Given the description of an element on the screen output the (x, y) to click on. 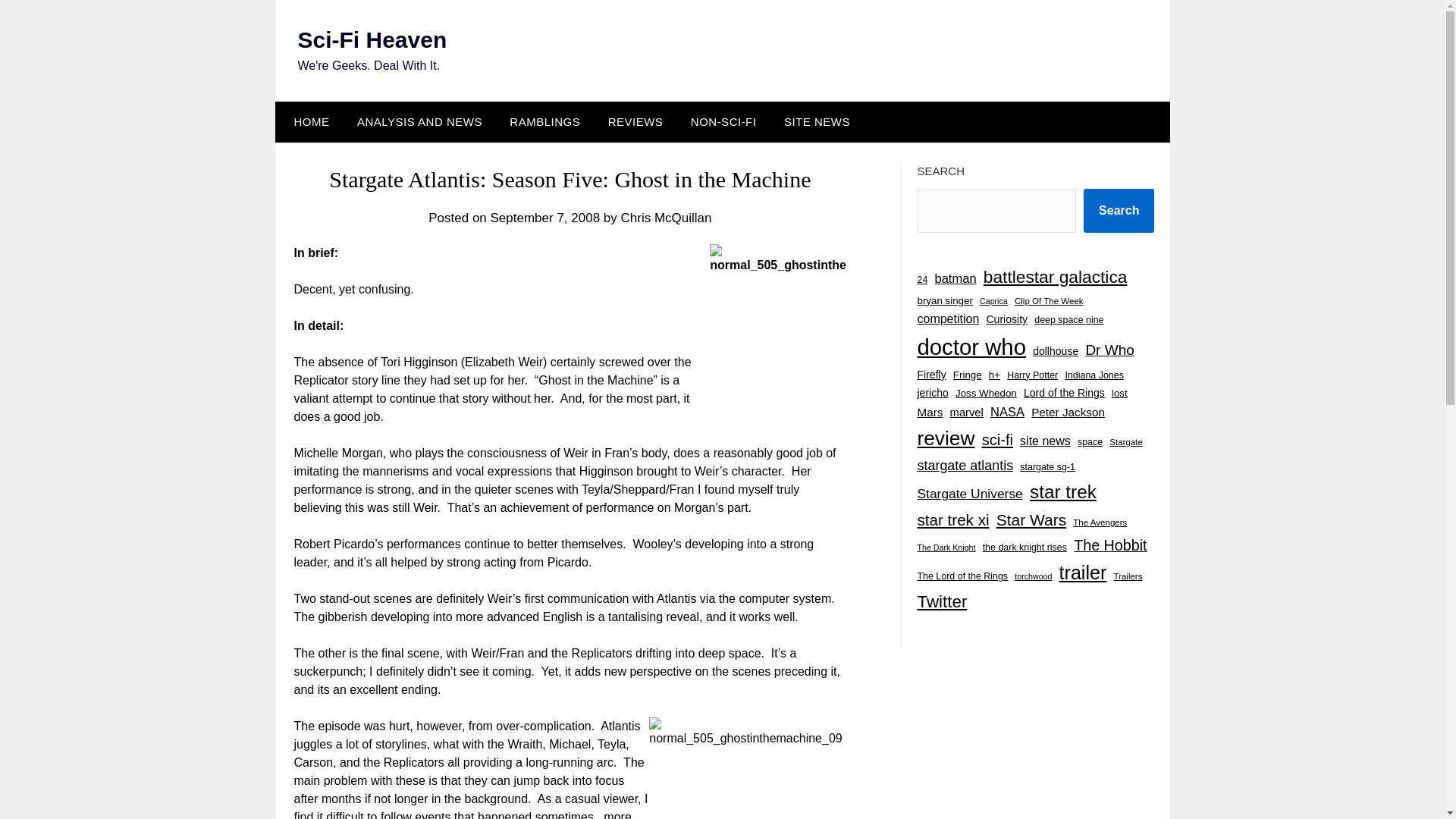
September 7, 2008 (544, 217)
Fringe (967, 375)
bryan singer (944, 300)
Caprica (993, 300)
ANALYSIS AND NEWS (420, 121)
NON-SCI-FI (723, 121)
SITE NEWS (816, 121)
deep space nine (1068, 319)
Dr Who (1109, 350)
Curiosity (1006, 319)
